Given the description of an element on the screen output the (x, y) to click on. 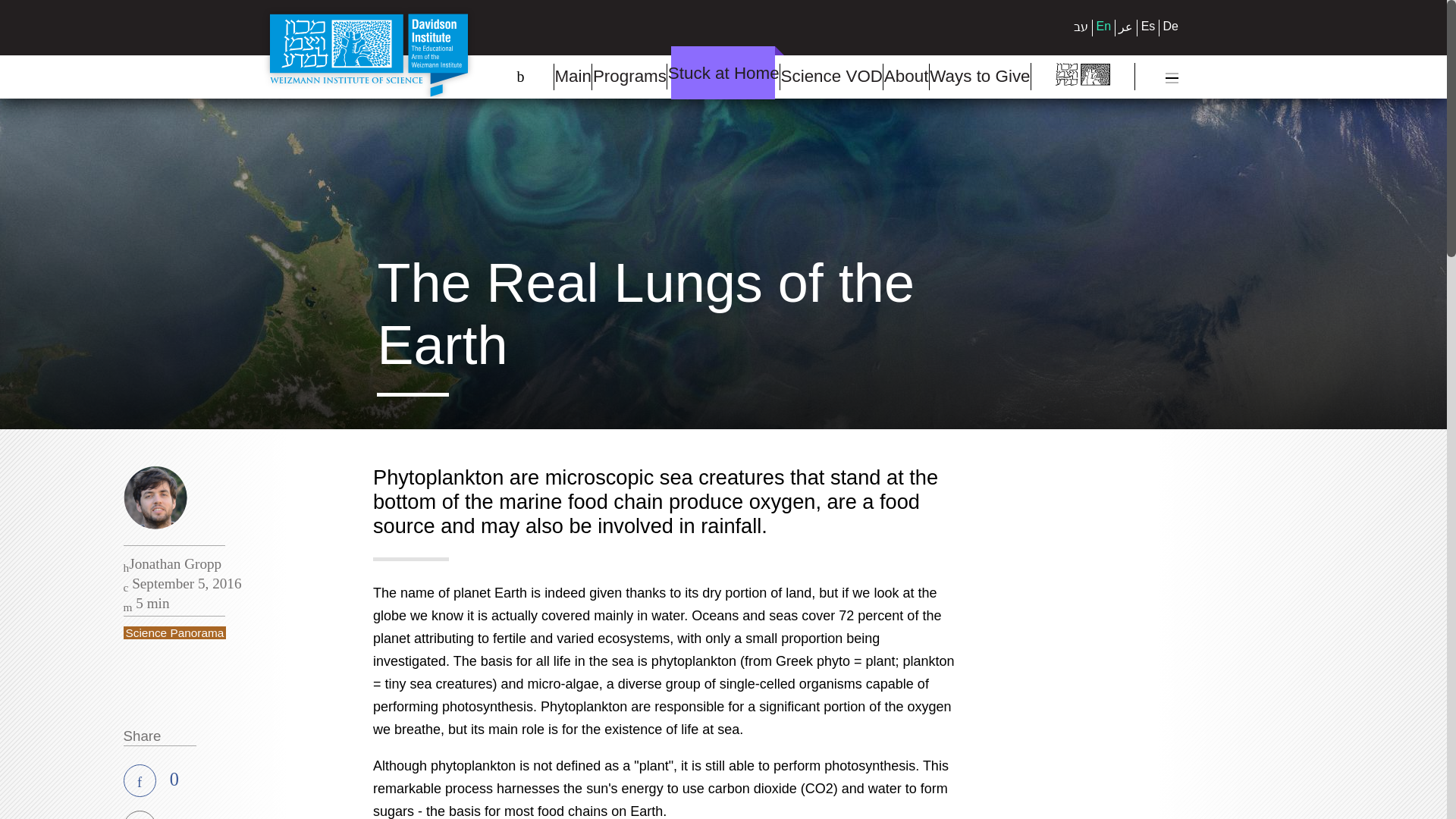
Science VOD (830, 76)
Stuck at Home (722, 76)
Programs (628, 76)
De (1170, 25)
Ways to Give (979, 76)
About (905, 76)
Main (572, 76)
En (1104, 25)
Home (367, 55)
Es (1148, 25)
